Given the description of an element on the screen output the (x, y) to click on. 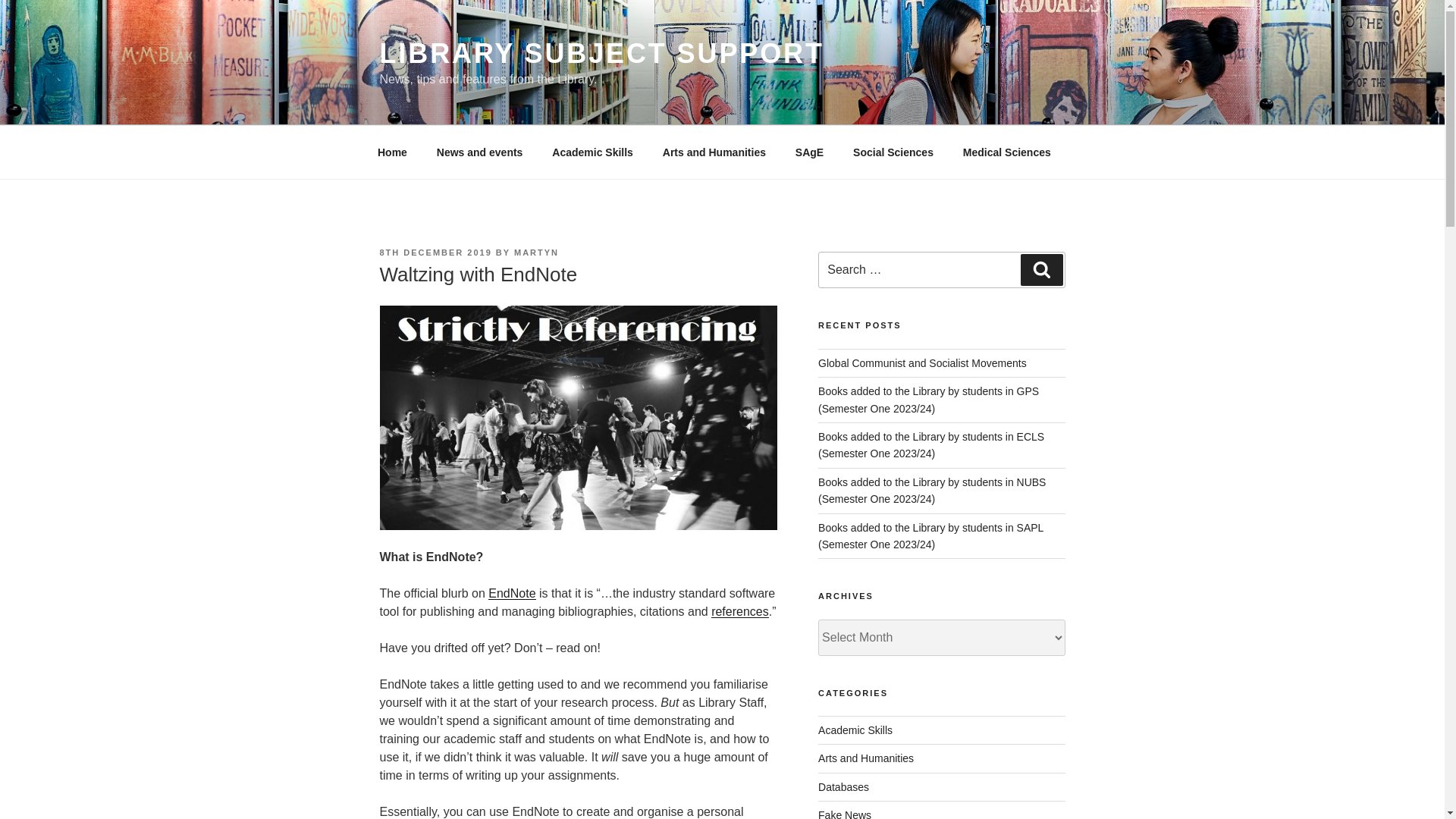
SAgE (808, 151)
Arts and Humanities (713, 151)
references (739, 611)
News and events (479, 151)
LIBRARY SUBJECT SUPPORT (601, 52)
Home (392, 151)
Medical Sciences (1006, 151)
MARTYN (536, 252)
Academic Skills (592, 151)
Social Sciences (893, 151)
EndNote (511, 593)
8TH DECEMBER 2019 (435, 252)
